Given the description of an element on the screen output the (x, y) to click on. 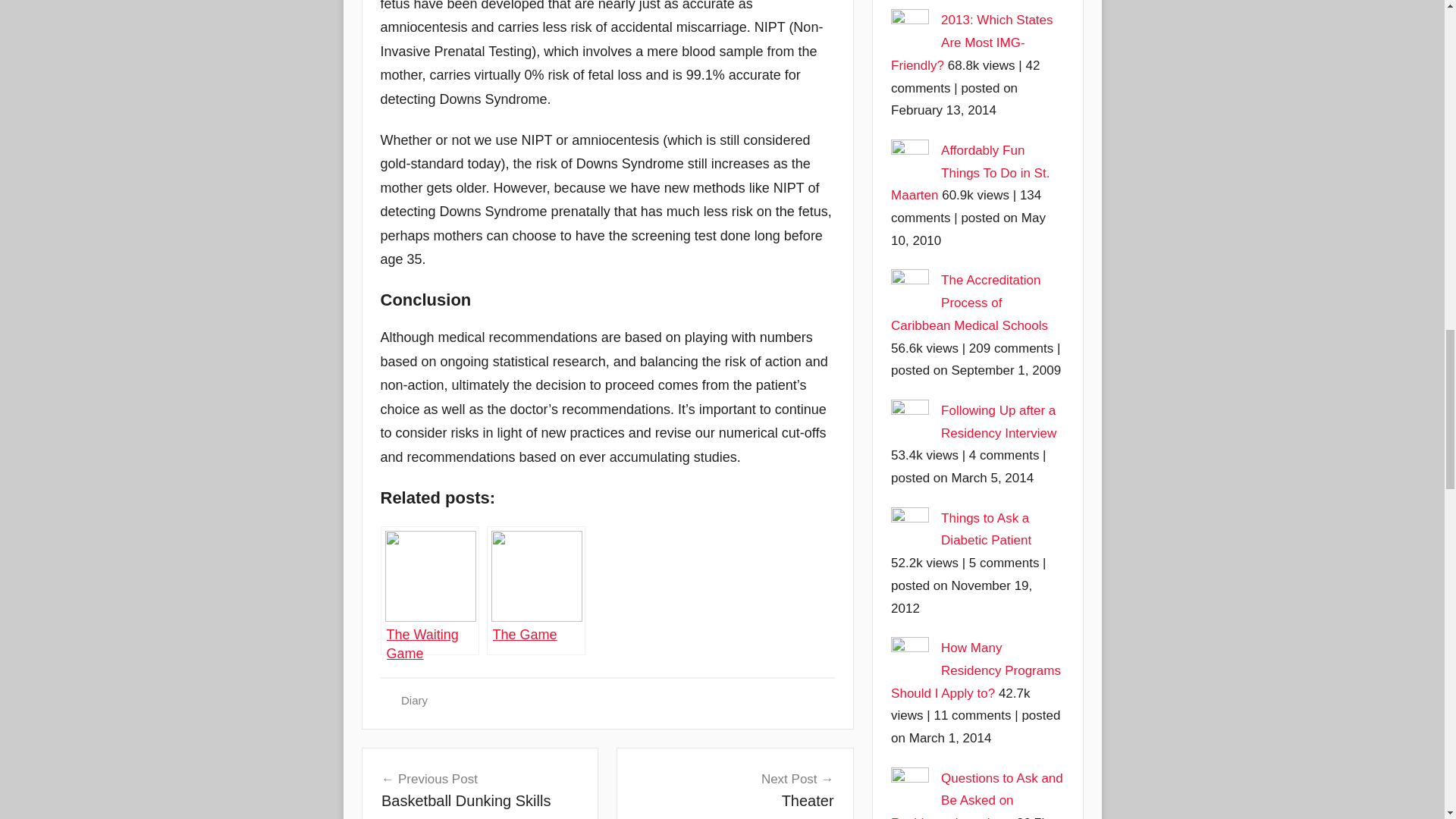
Affordably Fun Things To Do in St. Maarten (970, 173)
2013: Which States Are Most IMG-Friendly? (479, 790)
Diary (971, 42)
